Given the description of an element on the screen output the (x, y) to click on. 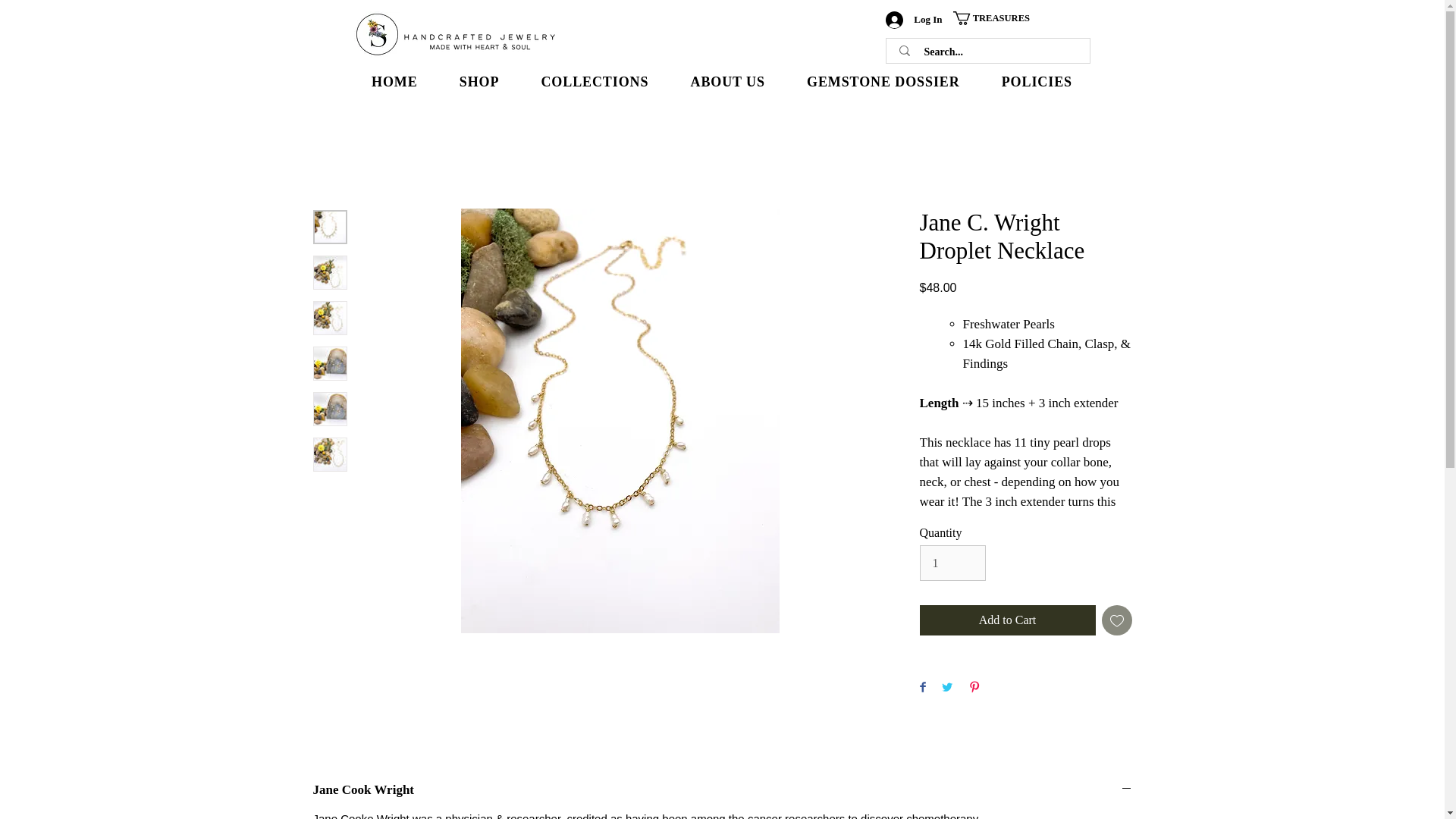
Add to Cart (1006, 620)
TREASURES (997, 18)
TREASURES (997, 18)
Jane Cook Wright (721, 81)
1 (722, 789)
Log In (951, 562)
HOME (913, 18)
